Given the description of an element on the screen output the (x, y) to click on. 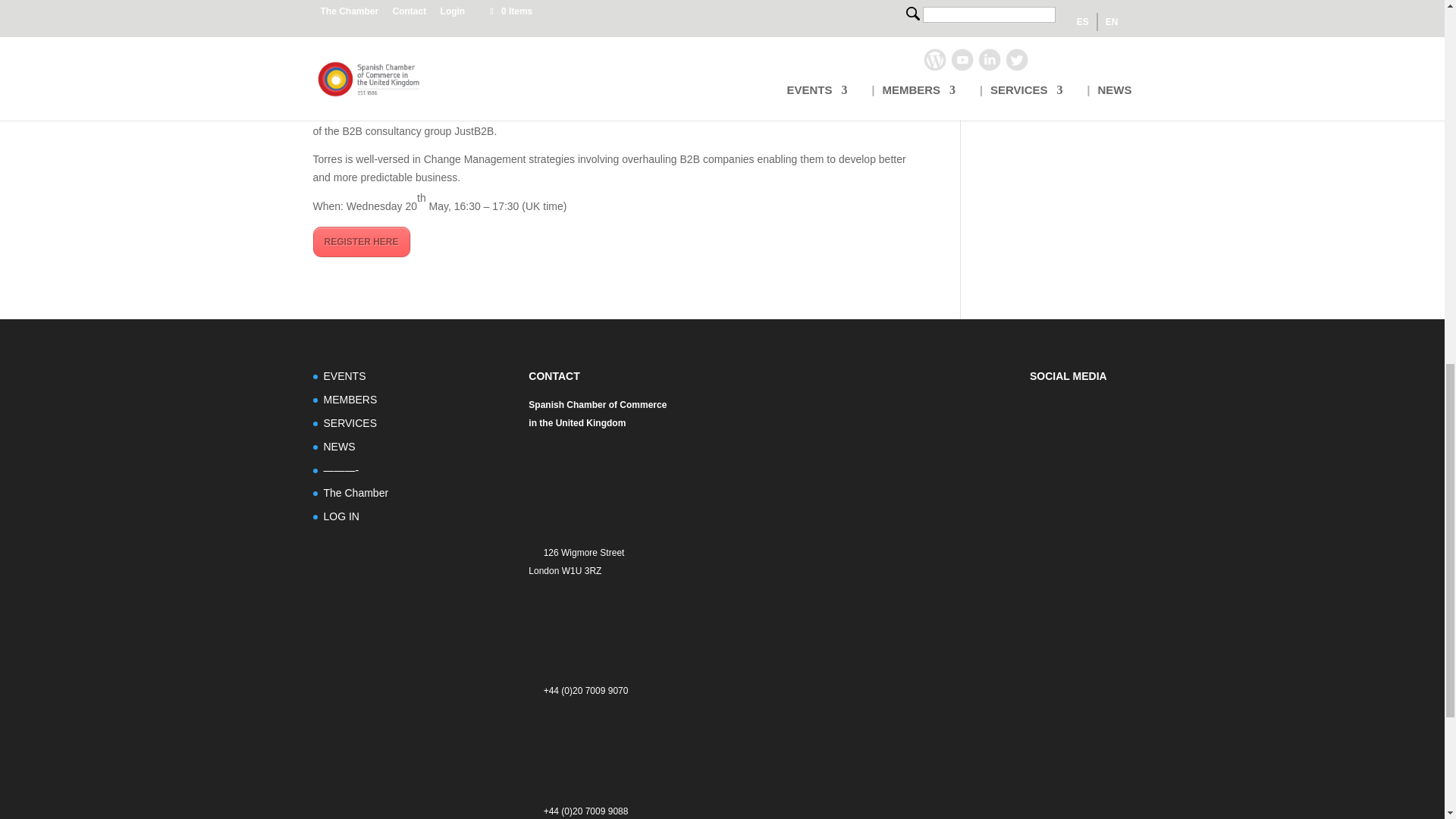
SERVICES (350, 422)
REGISTER HERE (361, 241)
NEWS (339, 446)
MEMBERS (350, 399)
EVENTS (344, 376)
